Given the description of an element on the screen output the (x, y) to click on. 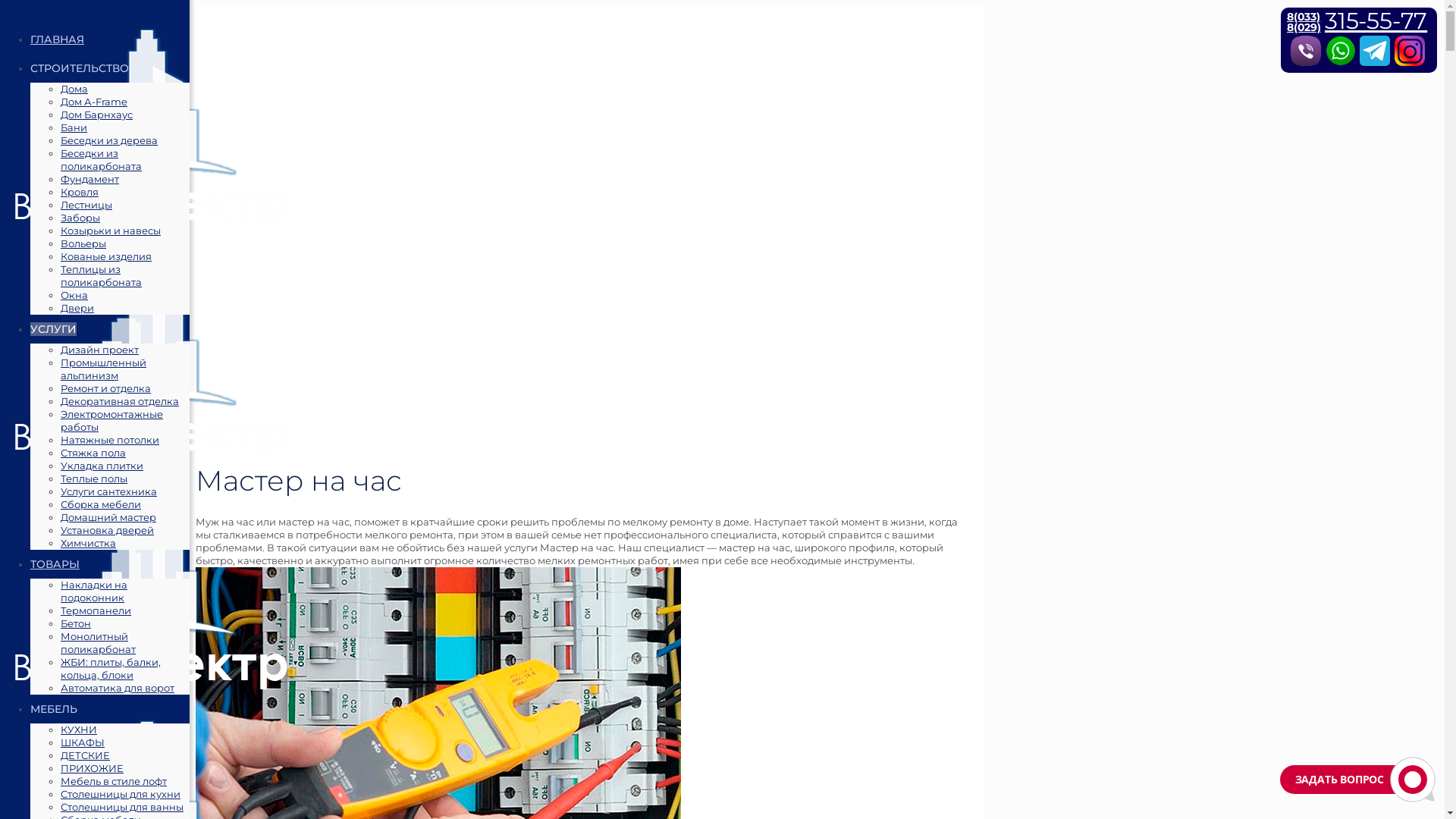
8(029) Element type: text (1303, 27)
8(033) Element type: text (1303, 16)
315-55-77 Element type: text (1375, 20)
